Given the description of an element on the screen output the (x, y) to click on. 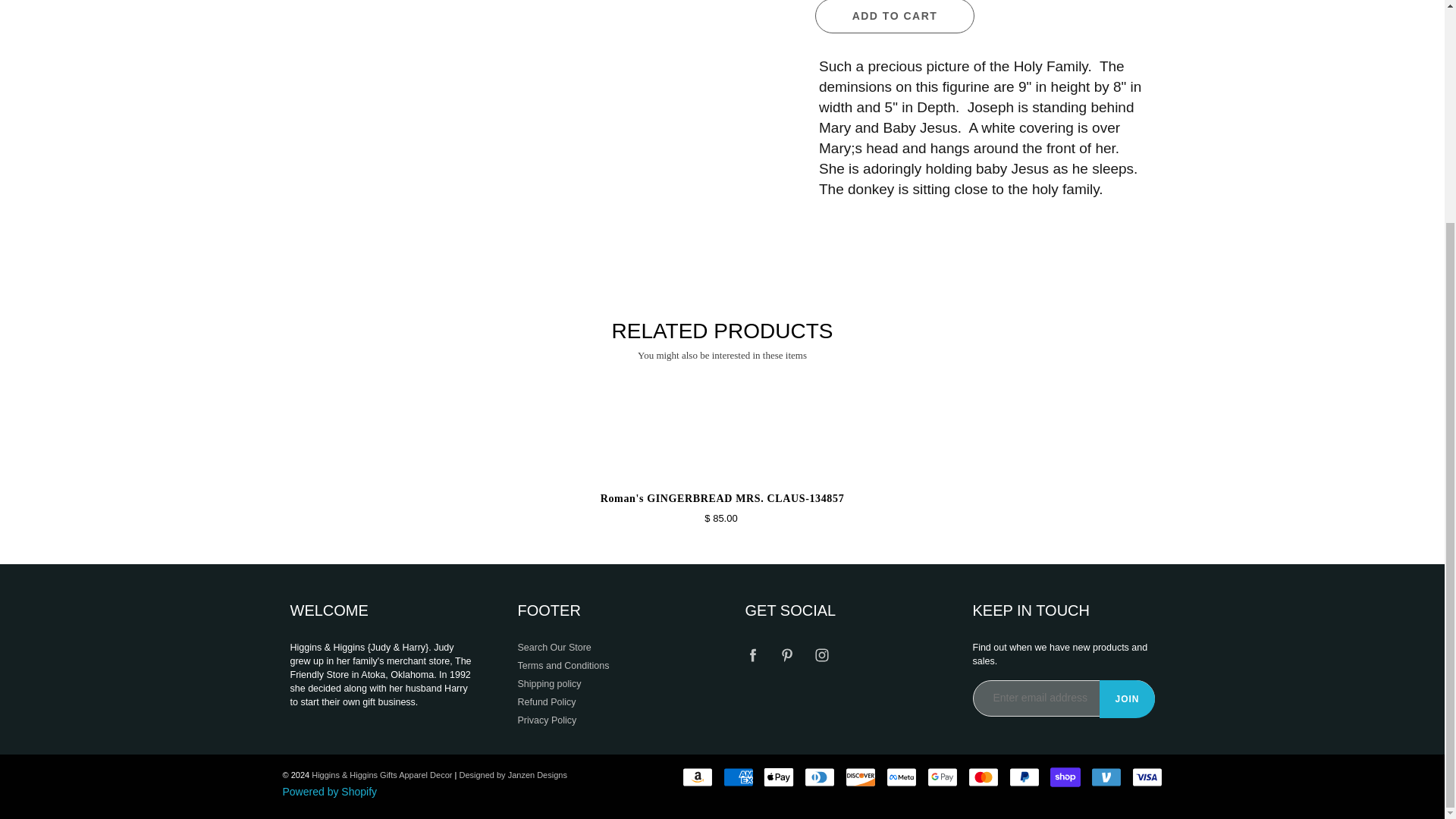
Pinterest (787, 654)
Shop Pay (1064, 776)
Meta Pay (901, 776)
PayPal (1024, 776)
Apple Pay (777, 776)
Amazon (697, 776)
Venmo (1105, 776)
Diners Club (819, 776)
American Express (738, 776)
Discover (860, 776)
